Given the description of an element on the screen output the (x, y) to click on. 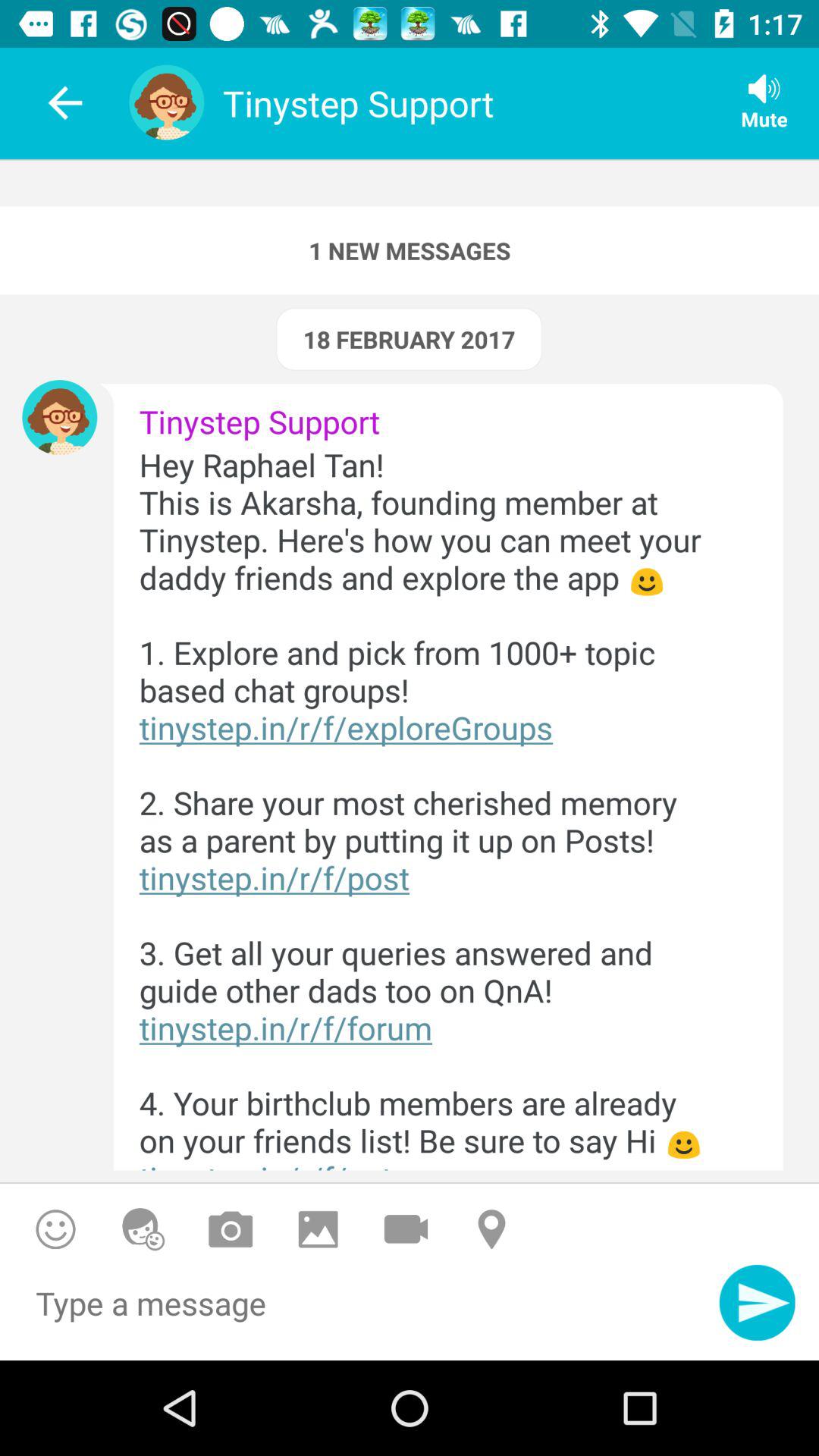
press the icon above the 18 february 2017 item (409, 250)
